Given the description of an element on the screen output the (x, y) to click on. 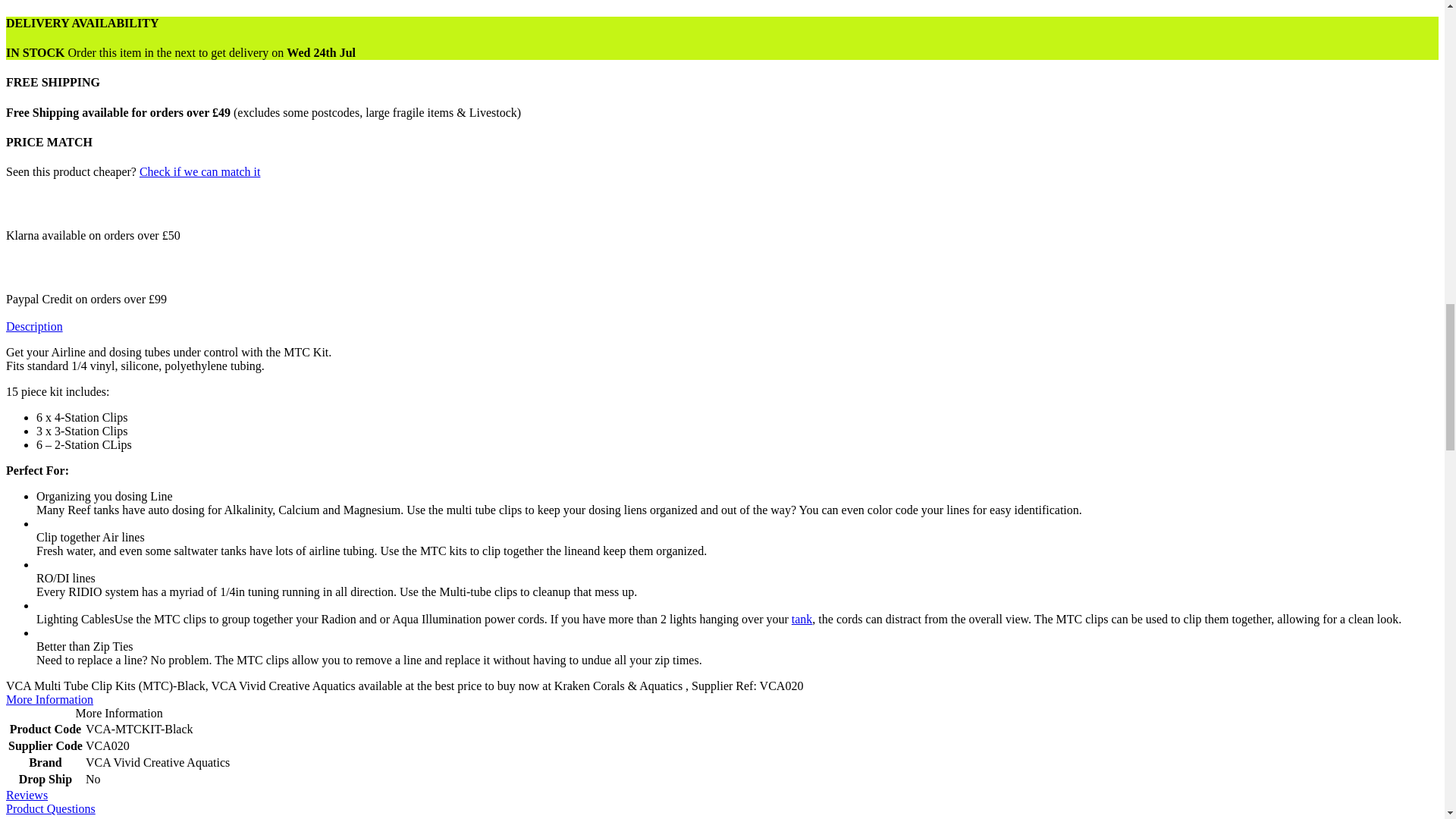
Price Match (199, 171)
tank (802, 618)
